Given the description of an element on the screen output the (x, y) to click on. 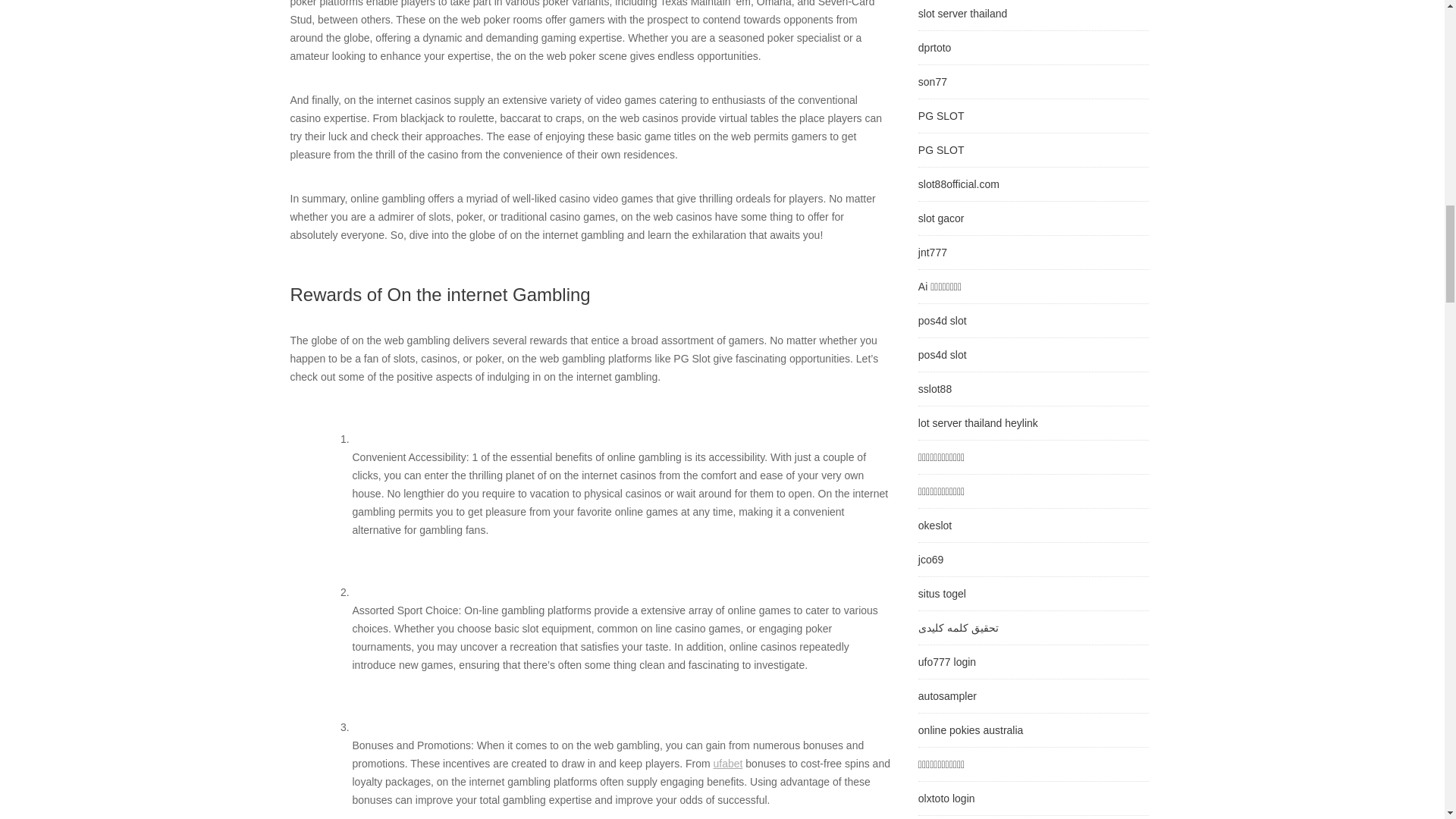
ufabet (727, 763)
